Given the description of an element on the screen output the (x, y) to click on. 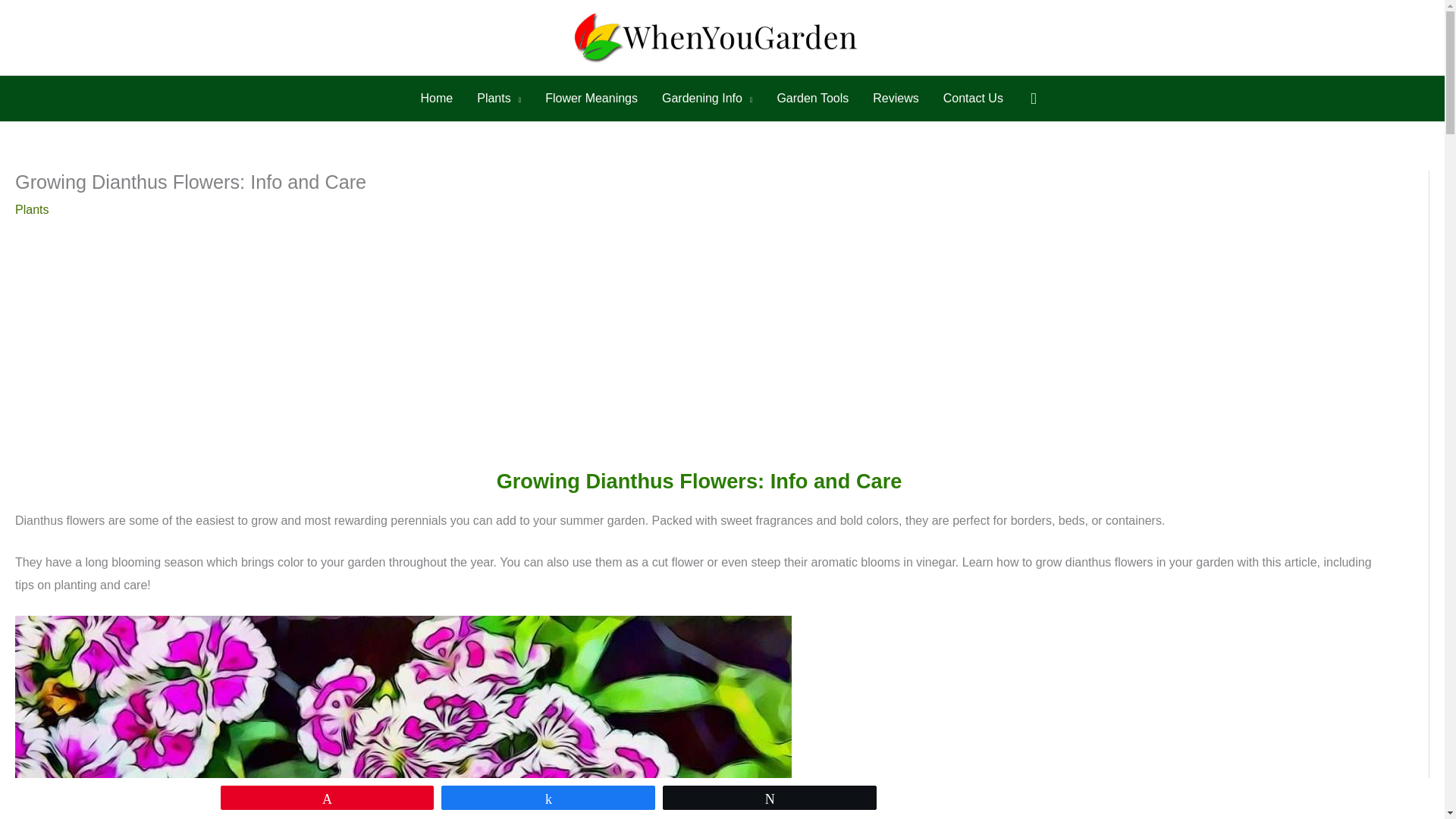
Garden Tools (812, 98)
Plants (498, 98)
Reviews (895, 98)
Home (437, 98)
Flower Meanings (590, 98)
Gardening Info (706, 98)
Contact Us (972, 98)
